Given the description of an element on the screen output the (x, y) to click on. 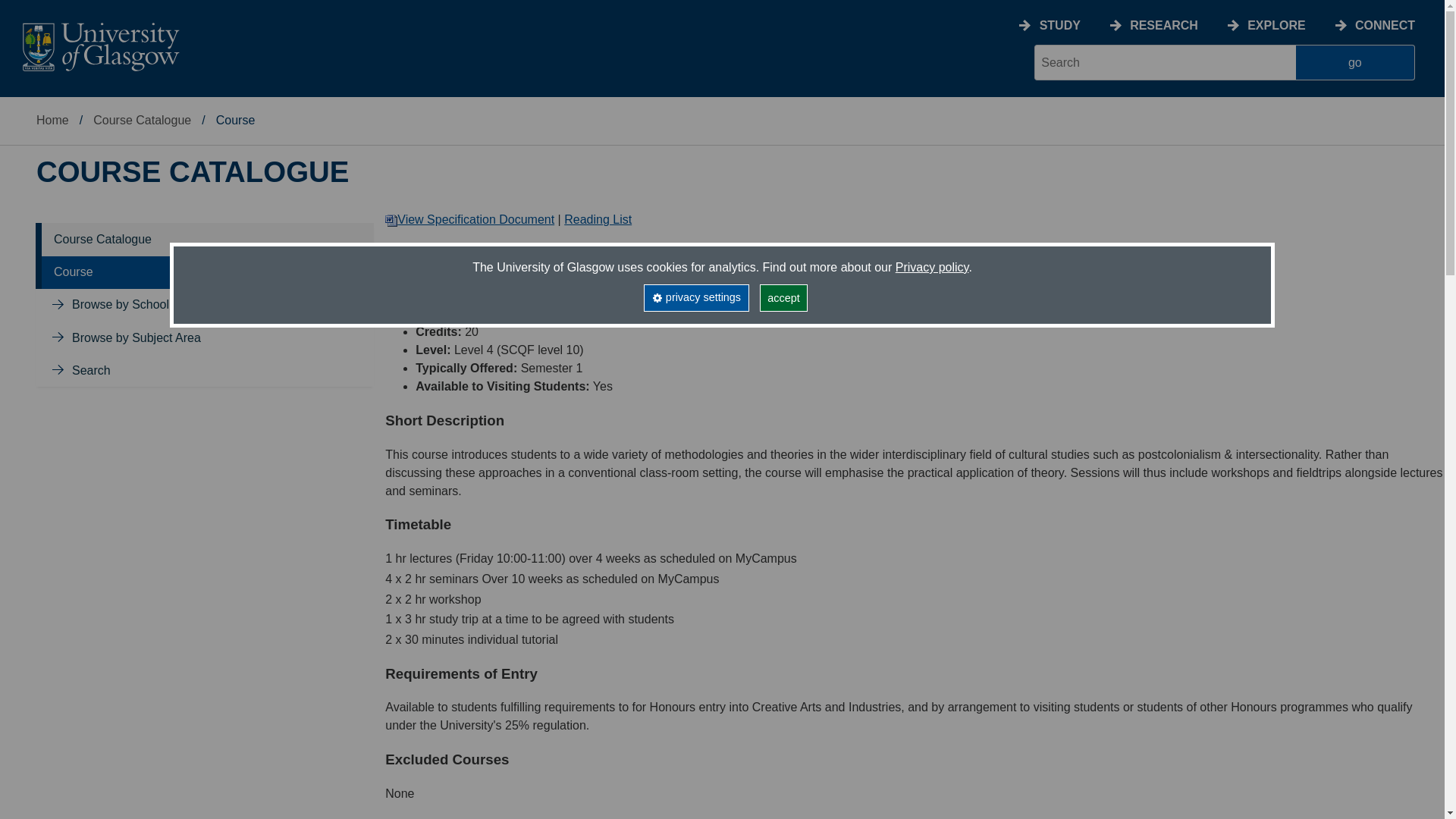
privacy settings (695, 298)
View Specification Document (469, 219)
EXPLORE (1275, 24)
Browse by Subject Area (135, 337)
Home (52, 119)
Privacy policy (932, 267)
STUDY (1059, 24)
go (1355, 62)
Search (90, 369)
search (1164, 62)
Browse by School (119, 304)
submit (1355, 62)
accept (784, 298)
go (1355, 62)
Course (73, 271)
